Given the description of an element on the screen output the (x, y) to click on. 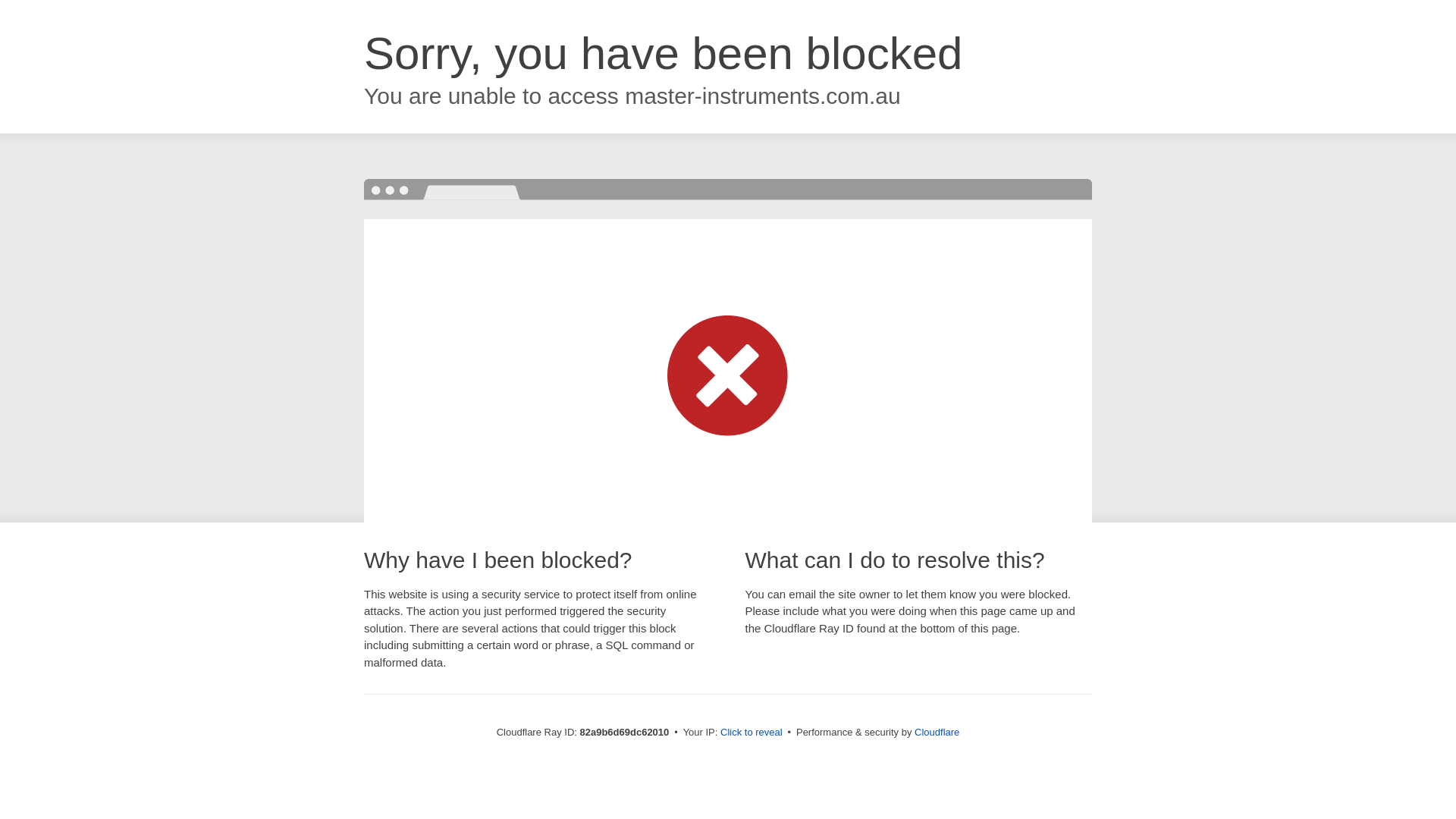
Cloudflare Element type: text (936, 731)
Click to reveal Element type: text (751, 732)
